Given the description of an element on the screen output the (x, y) to click on. 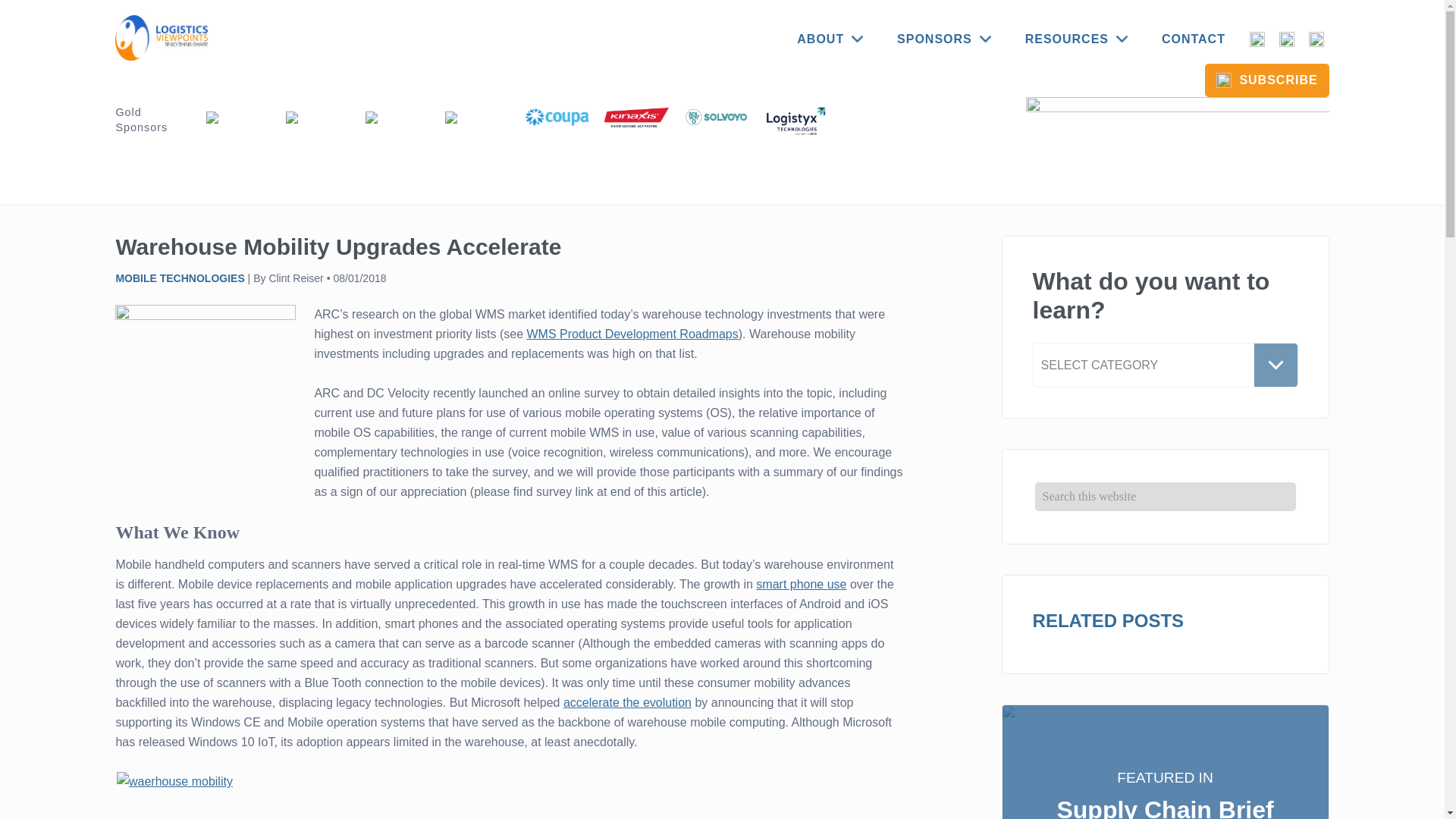
RESOURCES (1076, 39)
ABOUT (829, 39)
LOGISTICS VIEWPOINTS (164, 37)
SUBSCRIBE (1266, 80)
SPONSORS (944, 39)
CONTACT (1193, 39)
